Given the description of an element on the screen output the (x, y) to click on. 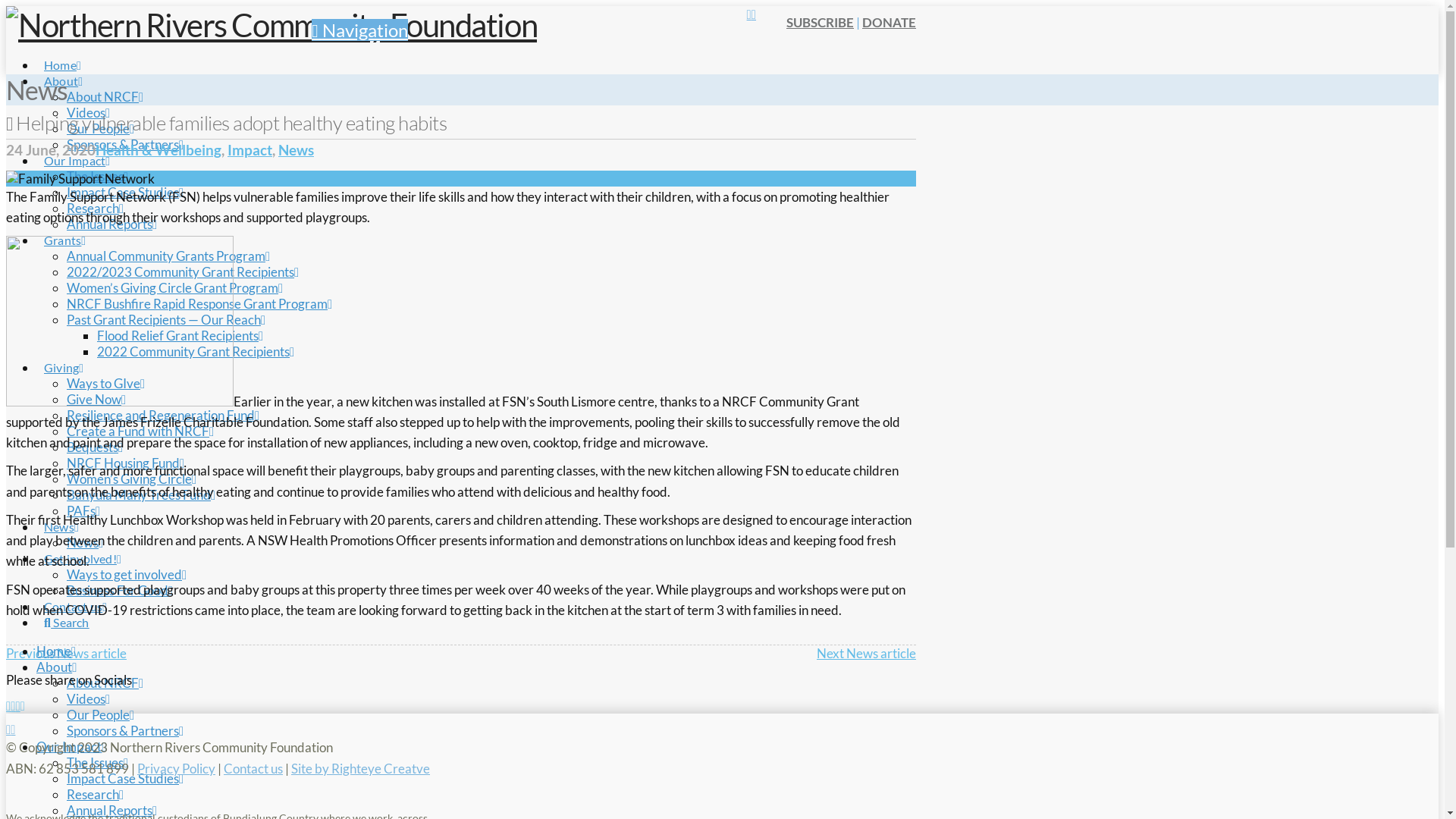
Ways to GIve Element type: text (105, 383)
Giving Element type: text (63, 353)
Videos Element type: text (87, 112)
2022/2023 Community Grant Recipients Element type: text (182, 271)
Health & Wellbeing Element type: text (158, 149)
Ways to get involved Element type: text (126, 574)
DONATE Element type: text (889, 22)
Navigation Element type: text (359, 29)
About Element type: text (63, 66)
News Element type: text (61, 512)
Sponsors & Partners Element type: text (124, 730)
Annual Reports Element type: text (111, 224)
Our Impact Element type: text (76, 146)
PAFs Element type: text (83, 510)
Get involved! Element type: text (82, 544)
Business For Good Element type: text (119, 590)
Impact Case Studies Element type: text (124, 192)
NRCF Bushfire Rapid Response Grant Program Element type: text (199, 303)
2022 Community Grant Recipients Element type: text (195, 351)
Impact Element type: text (249, 149)
Our People Element type: text (100, 714)
Sponsors & Partners Element type: text (124, 144)
Research Element type: text (94, 208)
Annual Community Grants Program Element type: text (167, 255)
NRCF Housing Fund Element type: text (125, 462)
About NRCF Element type: text (104, 682)
Bequests Element type: text (94, 447)
Share on Twitter Element type: hover (12, 705)
Next News article Element type: text (866, 653)
Create a Fund with NRCF Element type: text (139, 431)
Impact Case Studies Element type: text (124, 778)
The Issues Element type: text (97, 176)
The Issues Element type: text (97, 762)
Share on Facebook Element type: hover (8, 705)
About NRCF Element type: text (104, 96)
Videos Element type: text (87, 698)
Instagram Element type: hover (12, 729)
Home Element type: text (62, 50)
Give Now Element type: text (95, 399)
Facebook Element type: hover (8, 729)
News Element type: text (295, 149)
Share via Email Element type: hover (22, 705)
SUBSCRIBE Element type: text (819, 22)
Grants Element type: text (64, 225)
Facebook Element type: hover (753, 13)
Share on LinkedIn Element type: hover (17, 705)
Resilience and Regeneration Fund Element type: text (162, 415)
Research Element type: text (94, 794)
Privacy Policy Element type: text (176, 768)
Contact us Element type: text (252, 768)
Home Element type: text (55, 650)
Our People Element type: text (100, 128)
Annual Reports Element type: text (111, 810)
Our Impact Element type: text (71, 746)
Flood Relief Grant Recipients Element type: text (180, 335)
Banyula Many Trees Fund Element type: text (140, 494)
Site by Righteye Creatve Element type: text (360, 768)
About Element type: text (56, 666)
Contact us Element type: text (75, 592)
Instagram Element type: hover (748, 13)
News Element type: text (84, 542)
Previous News article Element type: text (66, 653)
Search Element type: text (66, 607)
